Given the description of an element on the screen output the (x, y) to click on. 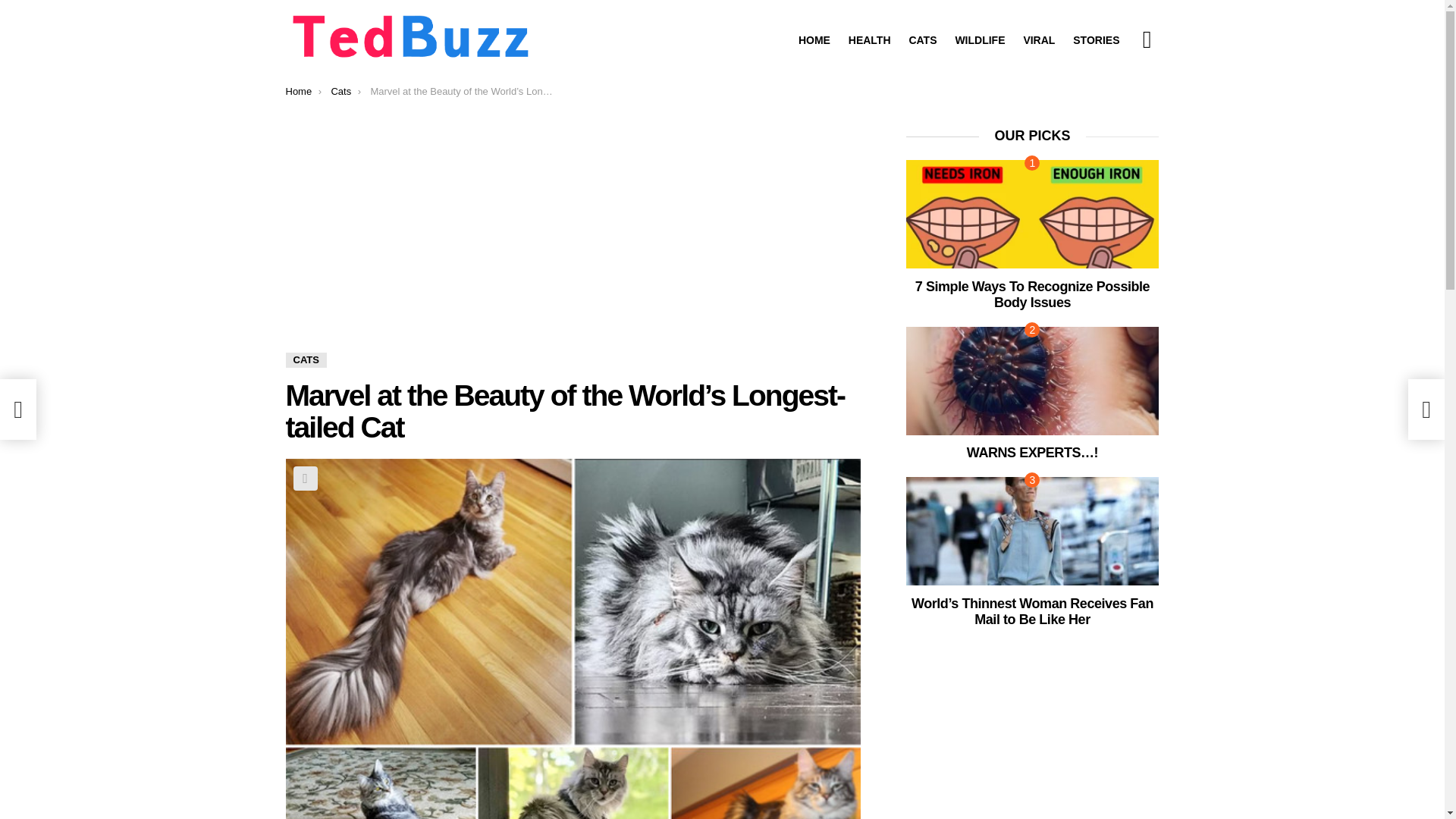
CATS (305, 359)
STORIES (1095, 39)
CATS (922, 39)
WILDLIFE (979, 39)
Home (298, 91)
HEALTH (869, 39)
VIRAL (1038, 39)
HOME (814, 39)
Advertisement (572, 240)
Share (304, 478)
